Given the description of an element on the screen output the (x, y) to click on. 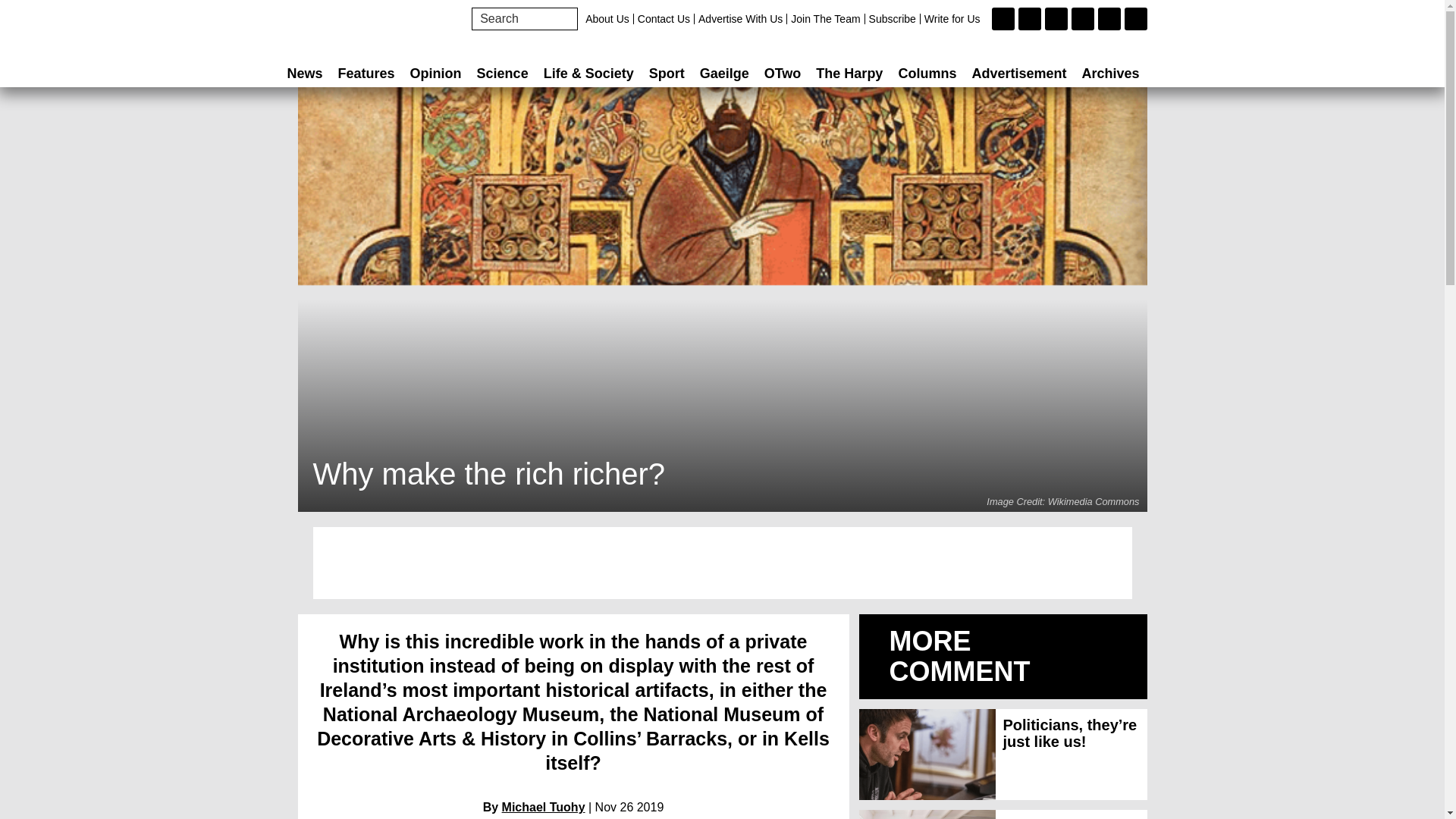
The Harpy (848, 73)
Sport (667, 73)
Columns (926, 73)
Gaeilge (725, 73)
Science (501, 73)
Advertisement (722, 562)
Features (366, 73)
Advertisement (1018, 73)
